Given the description of an element on the screen output the (x, y) to click on. 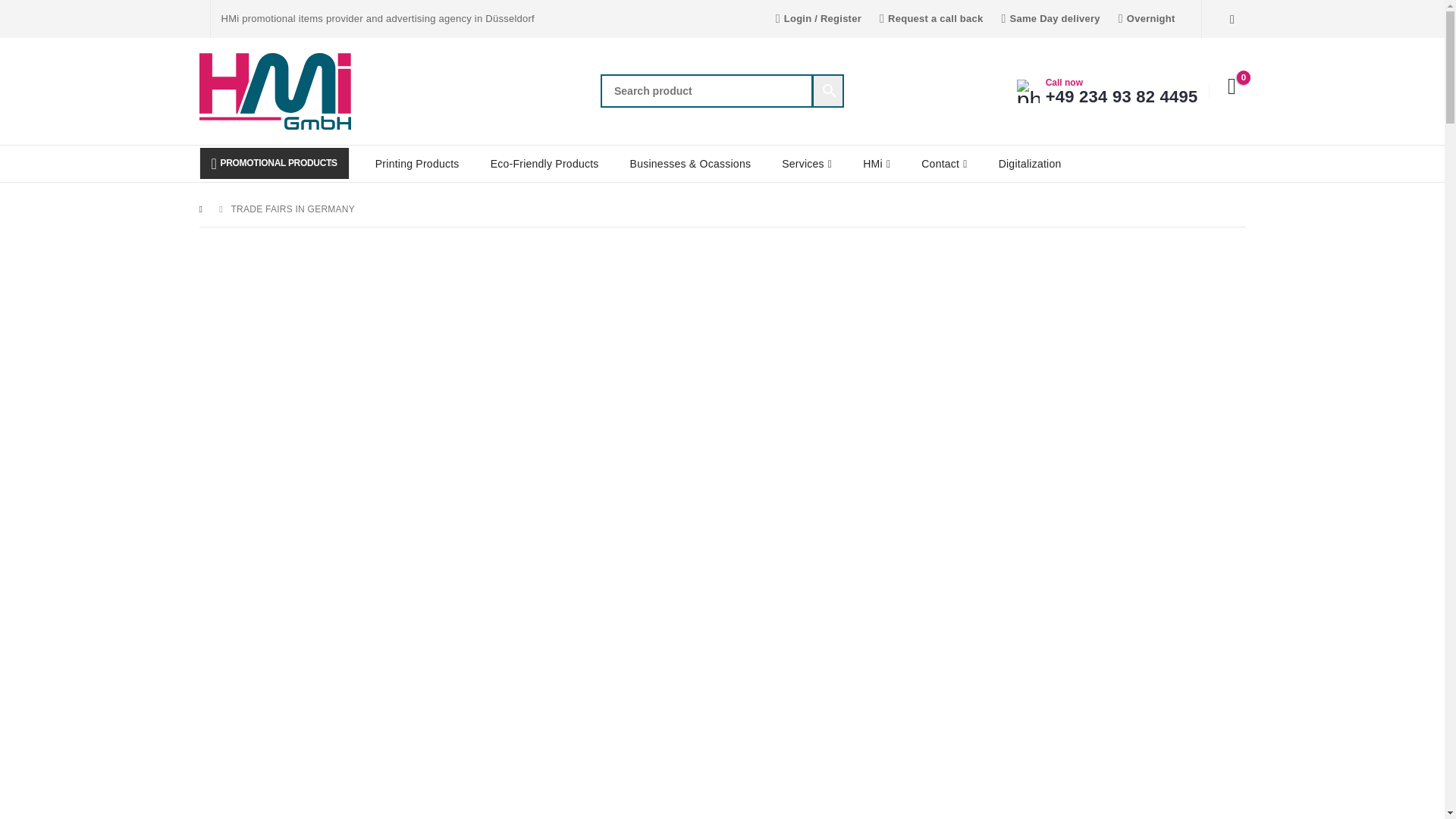
Same Day delivery (1050, 18)
Eco-Friendly Products (545, 163)
Printing Products (416, 163)
Services (807, 163)
HMi (876, 163)
Instagram (1232, 18)
Request a call back (931, 18)
Overnight (1146, 18)
